Given the description of an element on the screen output the (x, y) to click on. 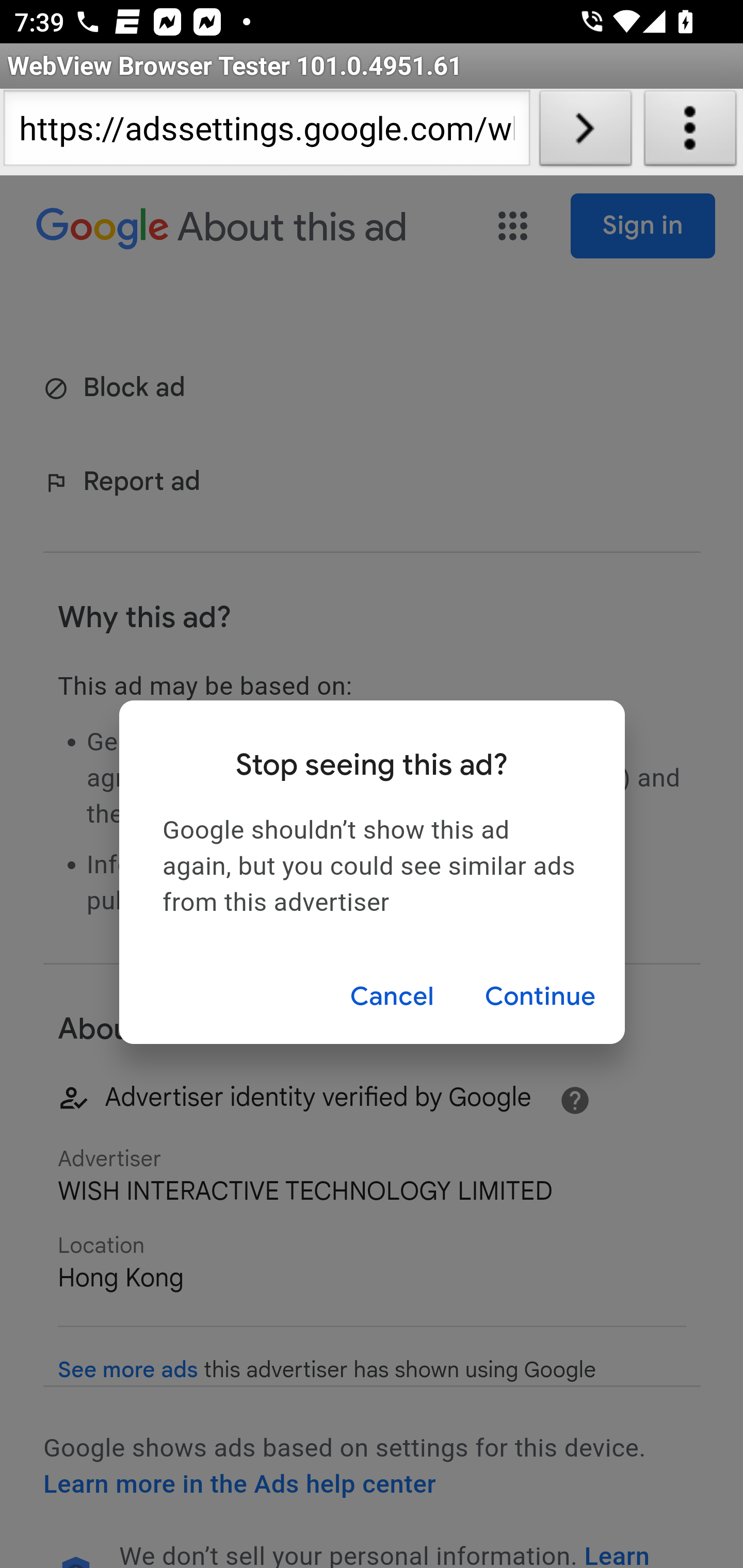
https://adssettings.google.com/whythisad (266, 132)
Load URL (585, 132)
About WebView (690, 132)
Cancel (391, 996)
Continue (539, 996)
